Given the description of an element on the screen output the (x, y) to click on. 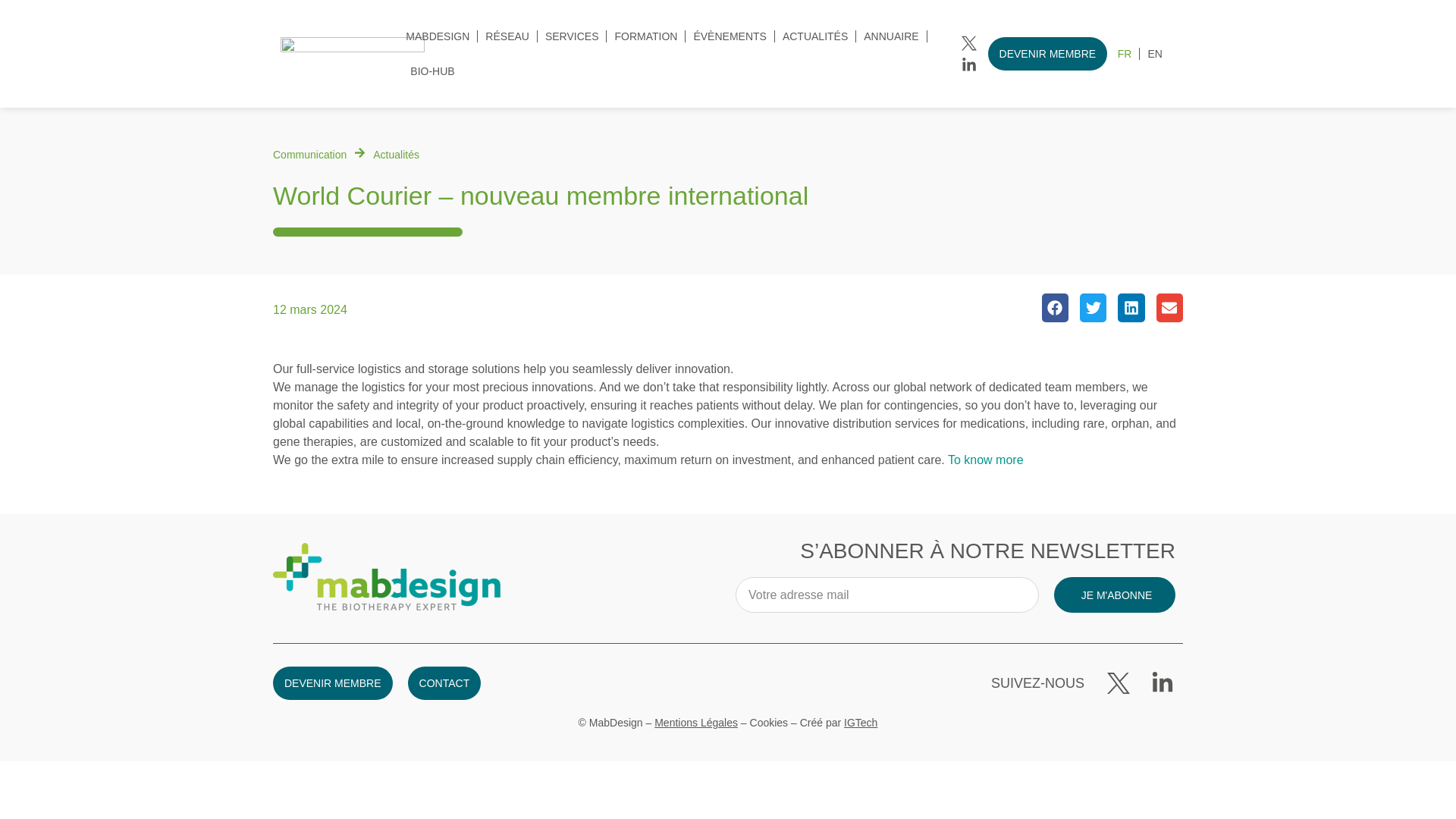
SERVICES (571, 36)
FORMATION (645, 36)
MABDESIGN (437, 36)
